Given the description of an element on the screen output the (x, y) to click on. 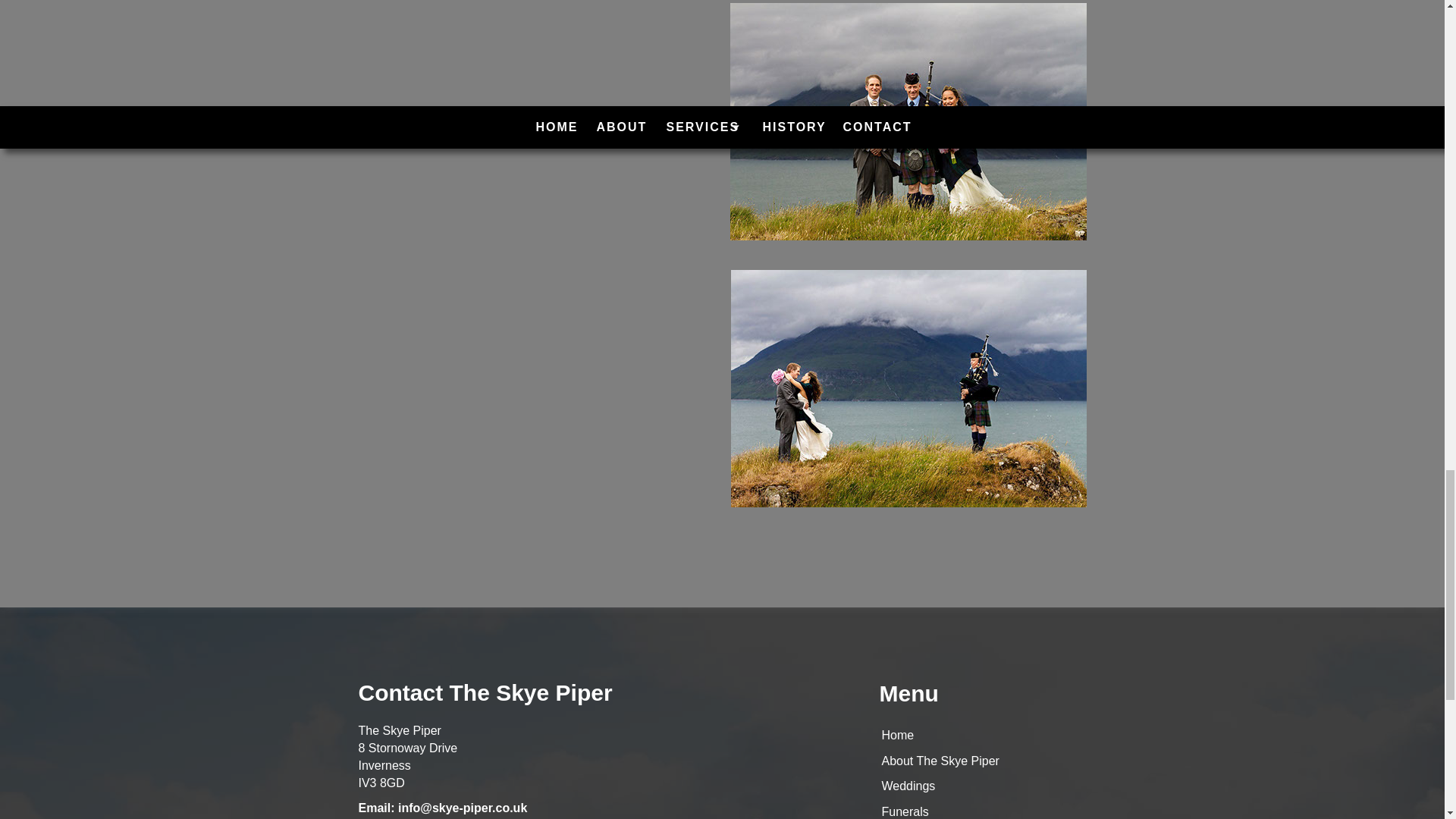
Home (897, 735)
Weddings (907, 785)
About The Skye Piper (939, 760)
Funerals (904, 811)
